Given the description of an element on the screen output the (x, y) to click on. 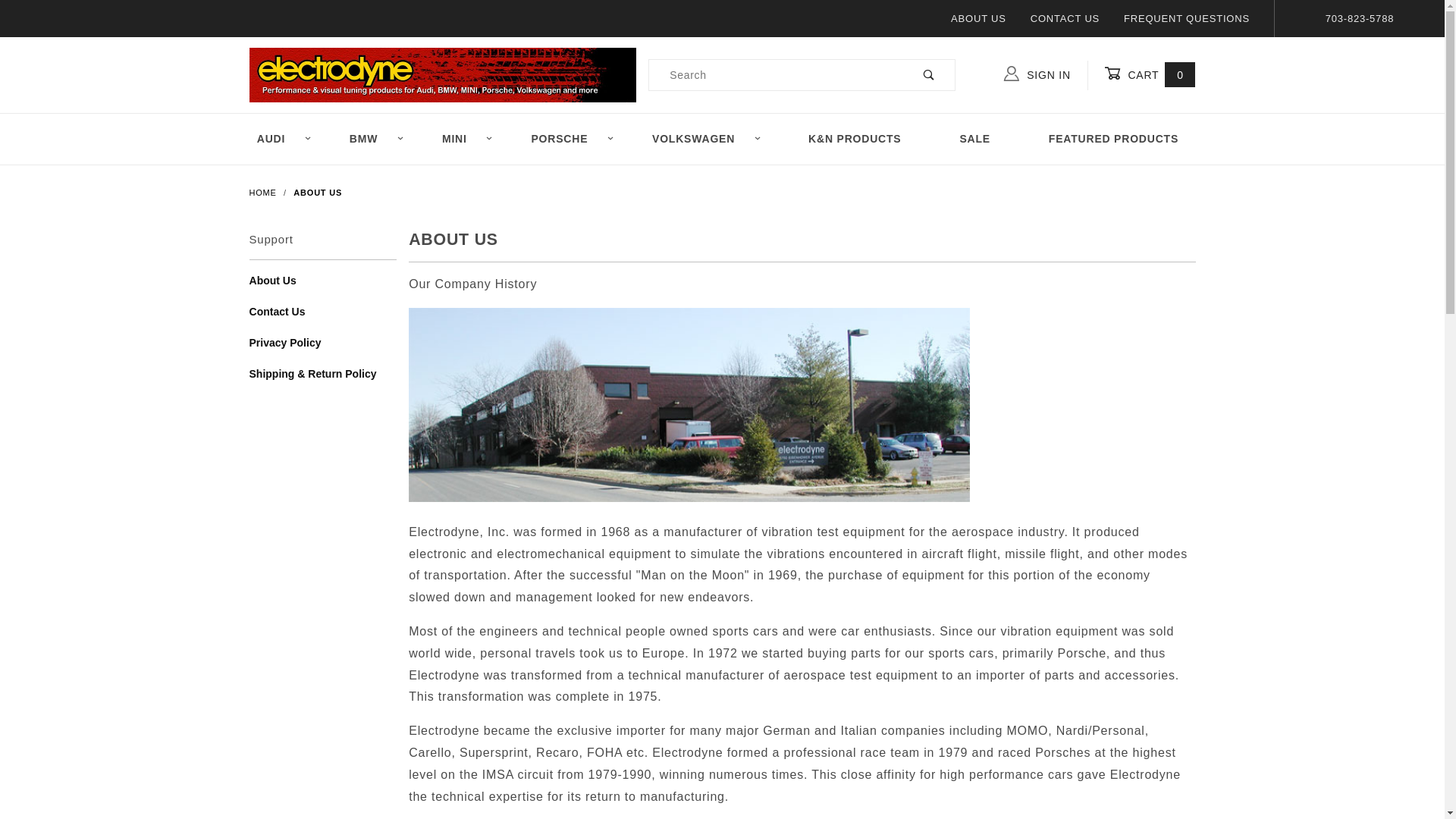
SALE Element type: text (974, 138)
ABOUT US Element type: text (978, 18)
Privacy Policy Element type: text (323, 348)
AUDI Element type: text (282, 138)
PORSCHE Element type: text (571, 138)
BMW Element type: text (375, 138)
Headquarters, warehouse and manufacturing facility Element type: hover (692, 408)
Shipping & Return Policy Element type: text (323, 379)
CART 0 Element type: text (1149, 74)
ABOUT US Element type: text (317, 192)
SIGN IN Element type: text (1046, 75)
K&N PRODUCTS Element type: text (854, 138)
Sign In Element type: text (1071, 134)
VOLKSWAGEN Element type: text (705, 138)
About Us Element type: text (323, 286)
MINI Element type: text (466, 138)
HOME Element type: text (263, 192)
Electrodyne, Quality Motoring Accessories Element type: hover (442, 74)
Contact Us Element type: text (323, 317)
FREQUENT QUESTIONS Element type: text (1186, 18)
FEATURED PRODUCTS Element type: text (1113, 138)
CONTACT US Element type: text (1064, 18)
